Given the description of an element on the screen output the (x, y) to click on. 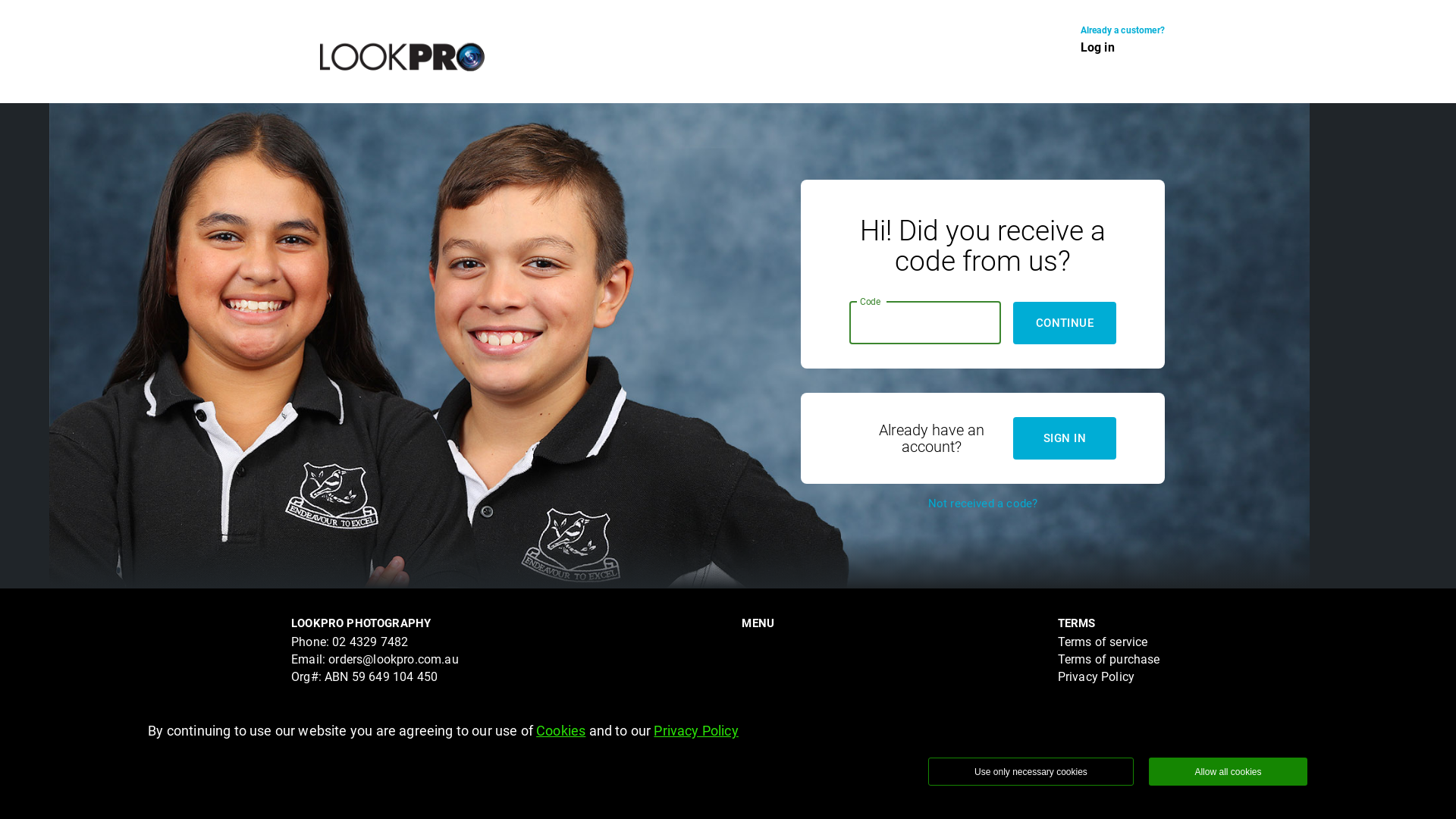
Terms of service Element type: text (1102, 641)
CONTINUE Element type: text (1064, 322)
Privacy Policy Element type: text (1095, 676)
Cookies description Element type: text (1110, 694)
Privacy Policy Element type: text (695, 730)
Not received a code? Element type: text (982, 503)
Web archive Element type: text (1090, 722)
Cookies Element type: text (560, 730)
orders@lookpro.com.au Element type: text (393, 659)
Use only necessary cookies Element type: text (1030, 772)
Log in Element type: text (1097, 47)
Allow all cookies Element type: text (1227, 772)
Terms of purchase Element type: text (1108, 659)
SIGN IN Element type: text (1064, 438)
